Given the description of an element on the screen output the (x, y) to click on. 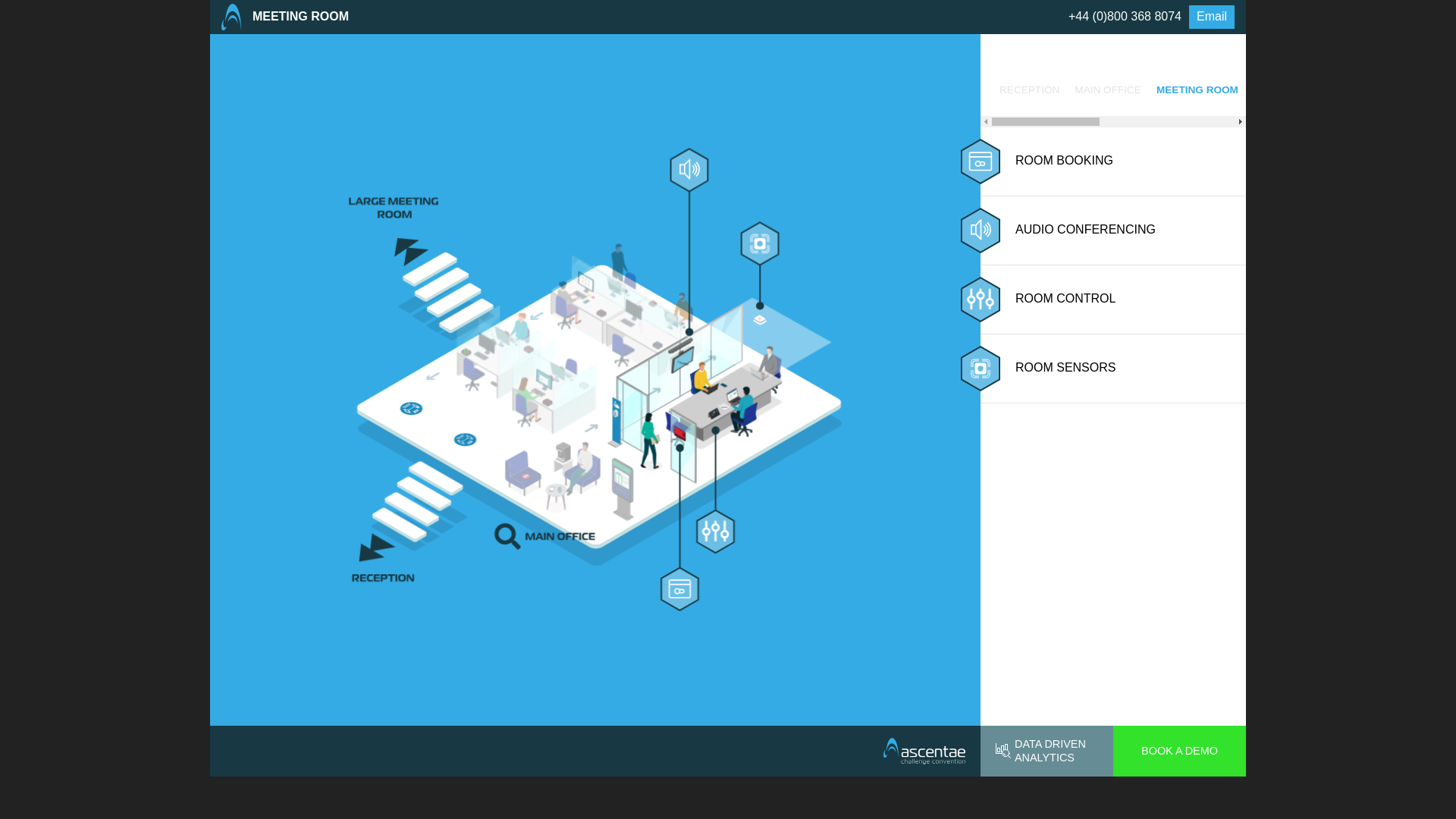
MAIN OFFICE (1107, 90)
LARGE MEETING ROOM (1313, 90)
MEETING ROOM (1197, 90)
Email (1211, 16)
RECEPTION (1029, 90)
